Given the description of an element on the screen output the (x, y) to click on. 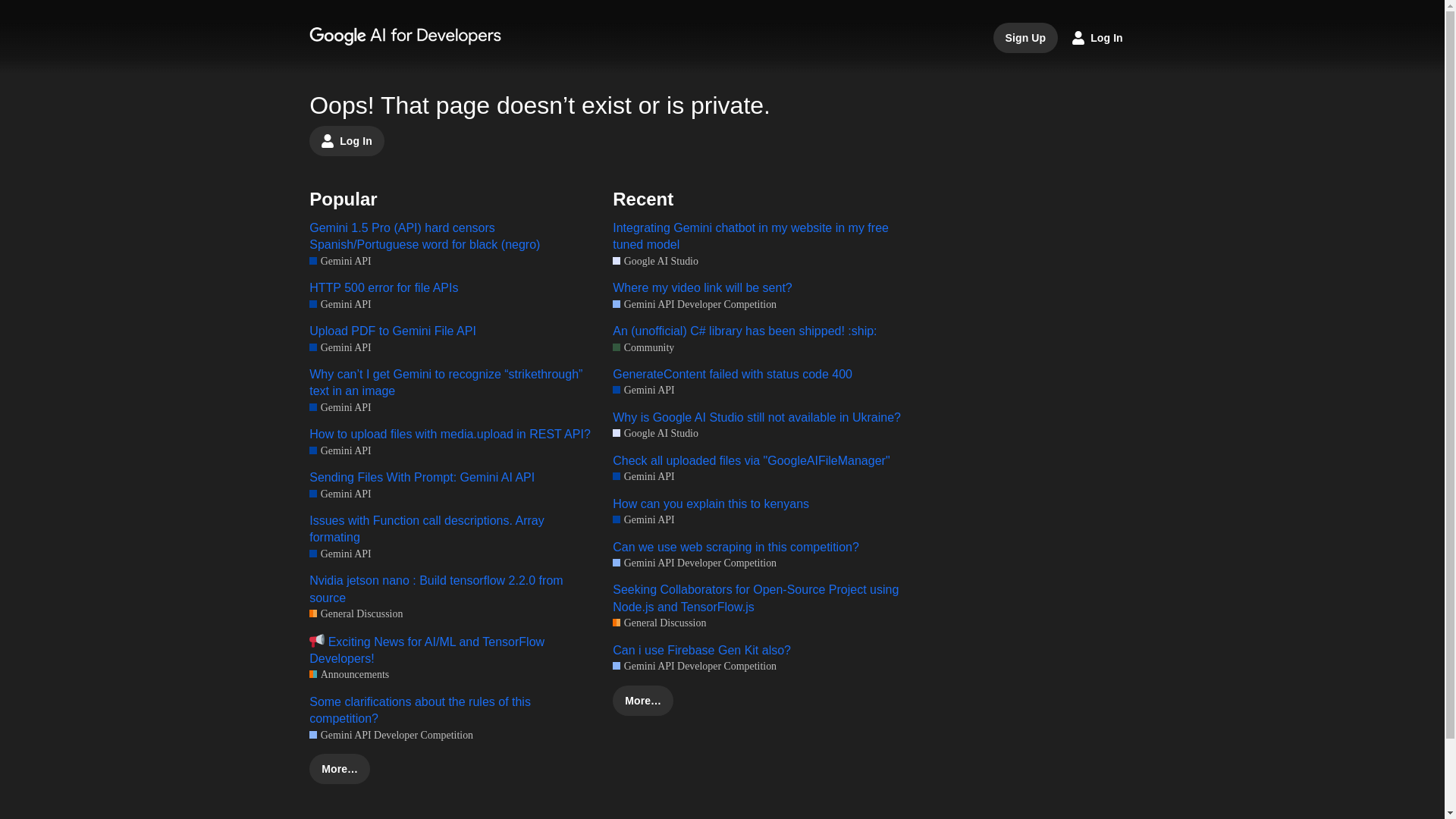
Google AI Studio (655, 432)
Gemini API (339, 554)
Gemini API (339, 347)
Where my video link will be sent? (756, 288)
Gemini API (339, 304)
Gemini API Developer Competition (390, 735)
Gemini API Developer Competition (694, 304)
Gemini API (339, 260)
Some clarifications about the rules of this competition? (452, 710)
Gemini API (339, 493)
Issues with Function call descriptions. Array formating (452, 529)
